Given the description of an element on the screen output the (x, y) to click on. 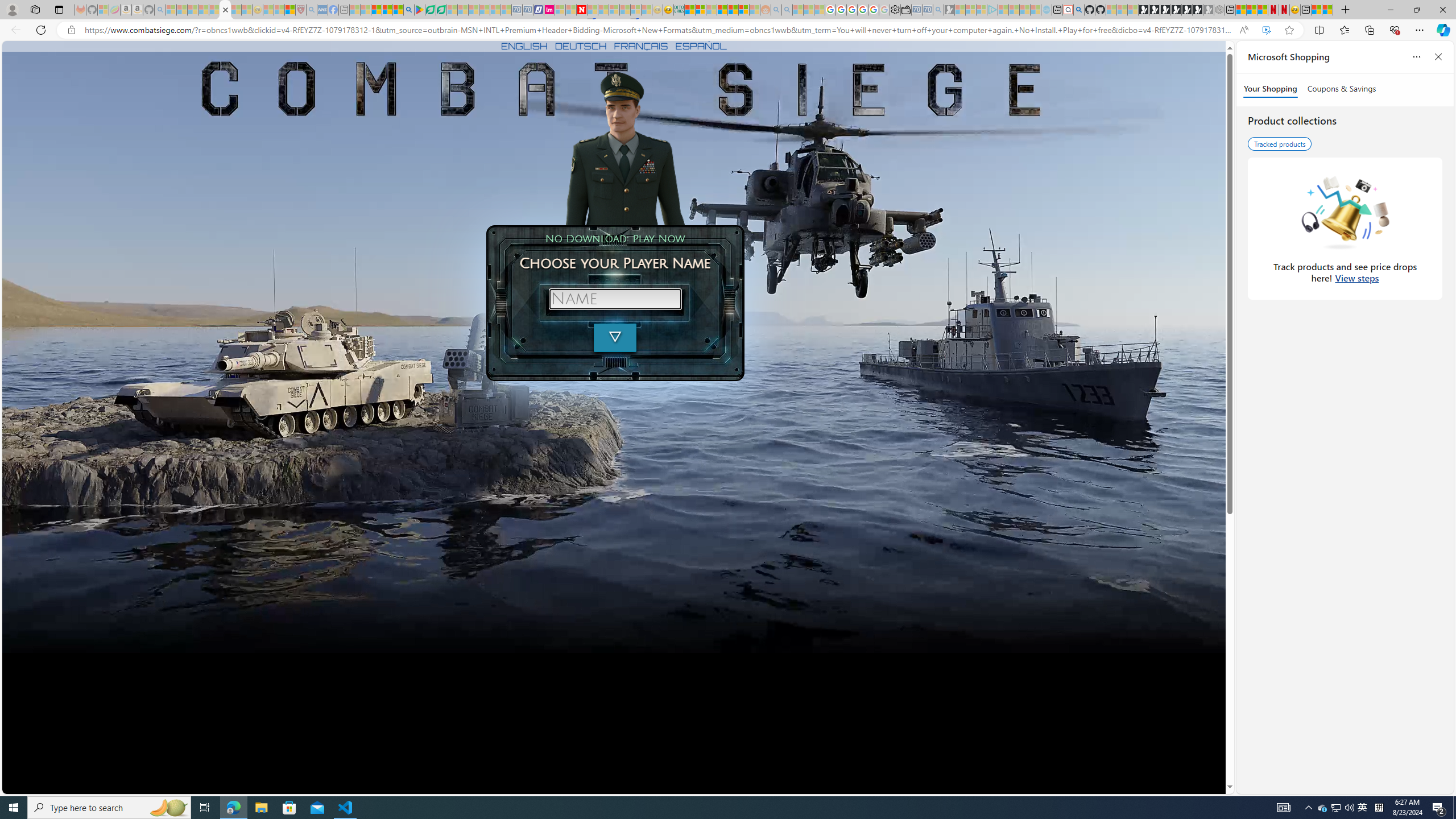
To get missing image descriptions, open the context menu. (624, 148)
Utah sues federal government - Search - Sleeping (787, 9)
The Weather Channel - MSN - Sleeping (192, 9)
MSNBC - MSN (689, 9)
